Given the description of an element on the screen output the (x, y) to click on. 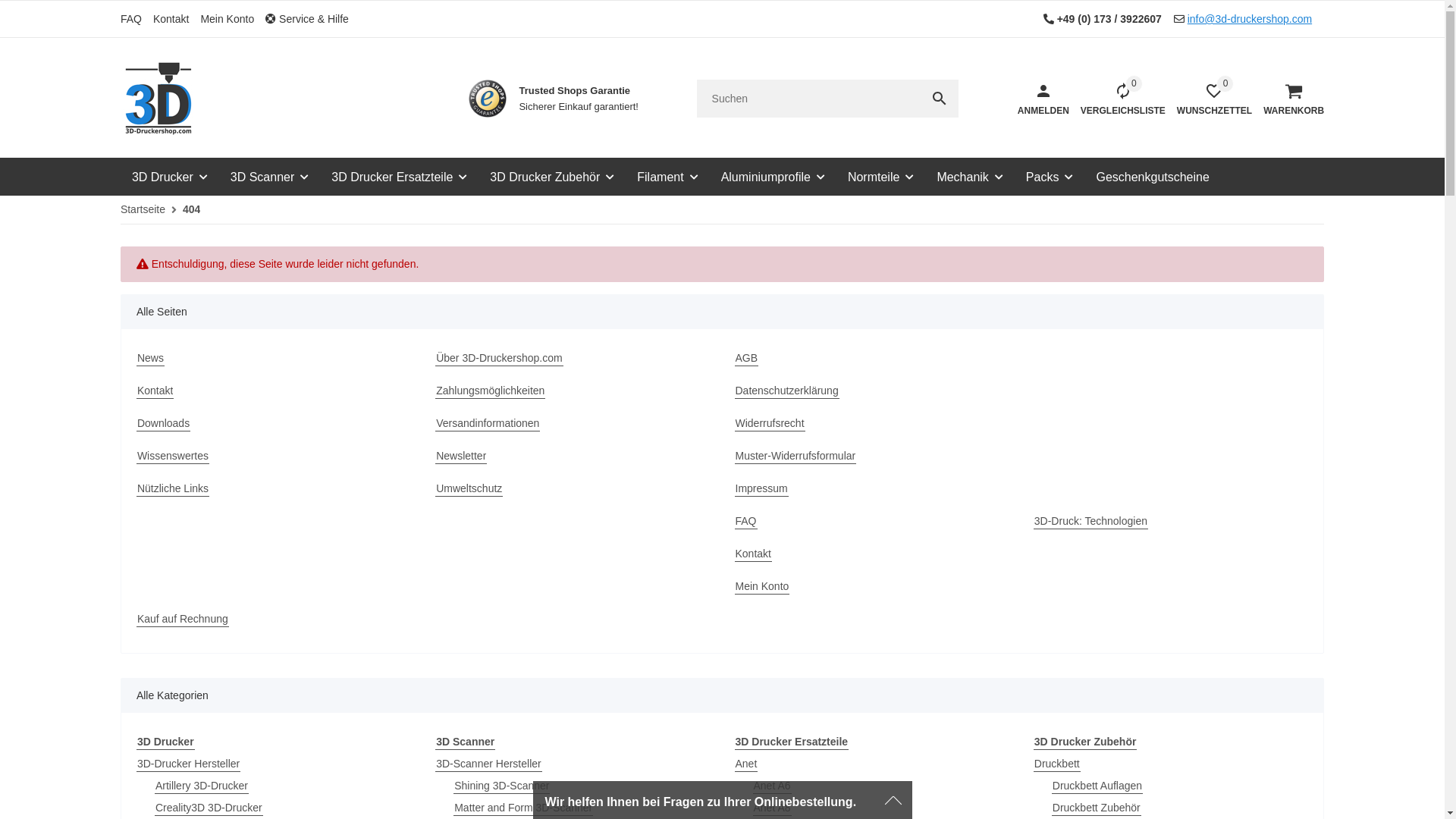
3D Drucker Ersatzteile Element type: text (791, 741)
Anet A8 Element type: text (771, 807)
3D-Scanner Hersteller Element type: text (488, 763)
Kontakt Element type: text (176, 18)
News Element type: text (150, 358)
info@3d-druckershop.com Element type: text (1249, 18)
Kontakt Element type: text (752, 553)
0
VERGLEICHSLISTE Element type: text (1117, 98)
Packs Element type: text (1049, 174)
Mechanik Element type: text (969, 174)
Impressum Element type: text (760, 488)
FAQ Element type: text (136, 18)
Wissenswertes Element type: text (172, 456)
Druckbett Auflagen Element type: text (1096, 785)
Service & Hilfe Element type: text (312, 18)
Umweltschutz Element type: text (468, 488)
Aluminiumprofile Element type: text (772, 174)
3D Drucker Element type: text (169, 174)
Widerrufsrecht Element type: text (769, 423)
Anet A6 Element type: text (771, 785)
Trusted Shops Garantie Element type: hover (487, 98)
Kauf auf Rechnung Element type: text (182, 619)
3D-Druckershop.com Element type: hover (158, 98)
3D-Drucker Hersteller Element type: text (188, 763)
404 Element type: text (191, 209)
Matter and Form 3D-Scanner Element type: text (523, 807)
Downloads Element type: text (163, 423)
Mein Konto Element type: text (761, 586)
3D Scanner Element type: text (269, 174)
Shining 3D-Scanner Element type: text (501, 785)
Normteile Element type: text (880, 174)
AGB Element type: text (746, 358)
Versandinformationen Element type: text (487, 423)
Druckbett Element type: text (1056, 763)
Kontakt Element type: text (154, 390)
Mein Konto Element type: text (232, 18)
FAQ Element type: text (745, 521)
Anet Element type: text (745, 763)
Startseite Element type: text (142, 209)
Newsletter Element type: text (460, 456)
Creality3D 3D-Drucker Element type: text (208, 807)
Filament Element type: text (667, 174)
3D Drucker Ersatzteile Element type: text (399, 174)
3D Drucker Element type: text (165, 741)
WARENKORB Element type: text (1288, 98)
3D Scanner Element type: text (465, 741)
Geschenkgutscheine Element type: text (1152, 174)
Artillery 3D-Drucker Element type: text (201, 785)
Muster-Widerrufsformular Element type: text (795, 456)
3D-Druck: Technologien Element type: text (1090, 521)
